Given the description of an element on the screen output the (x, y) to click on. 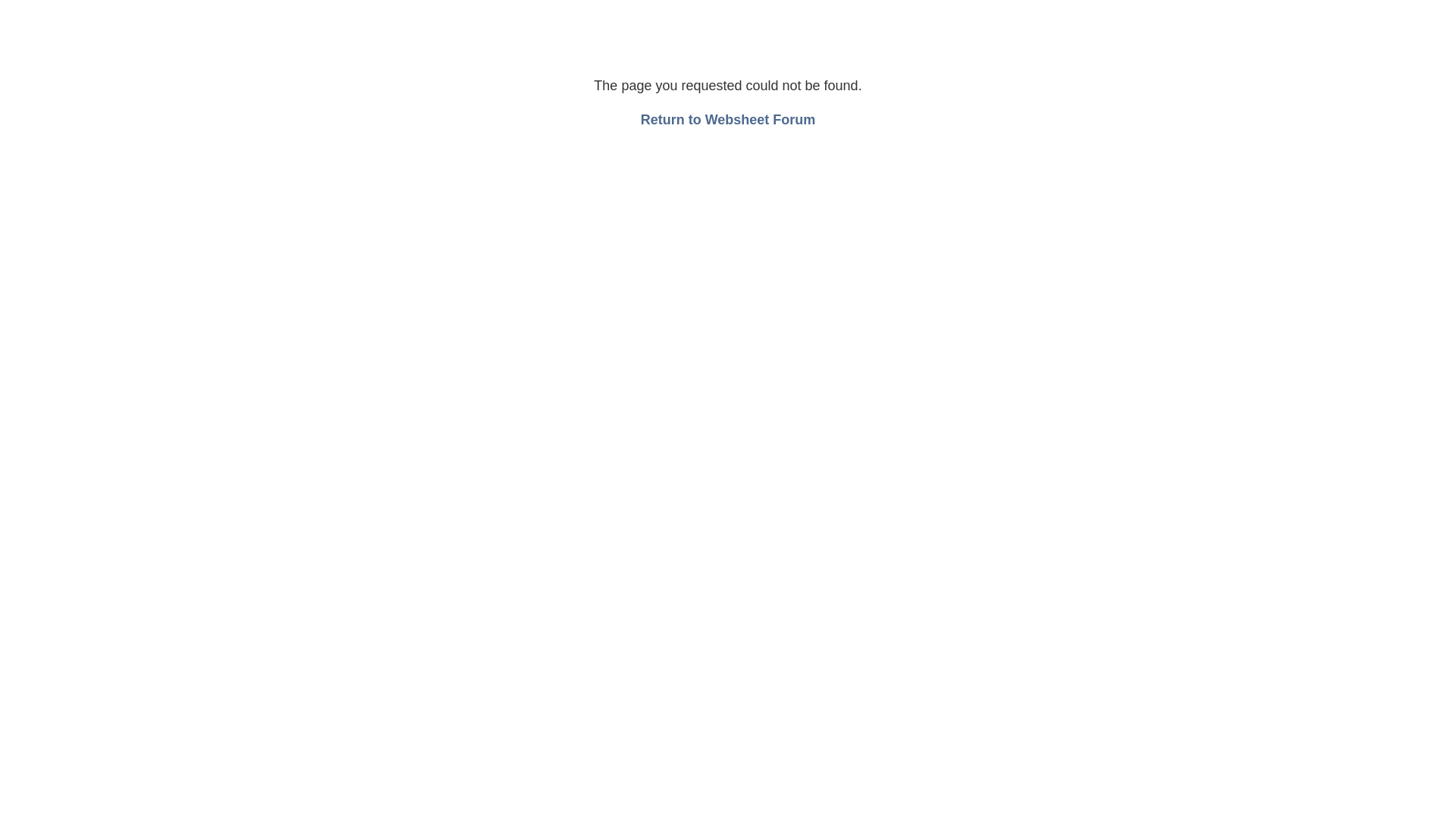
Return to Websheet Forum Element type: text (727, 119)
